Given the description of an element on the screen output the (x, y) to click on. 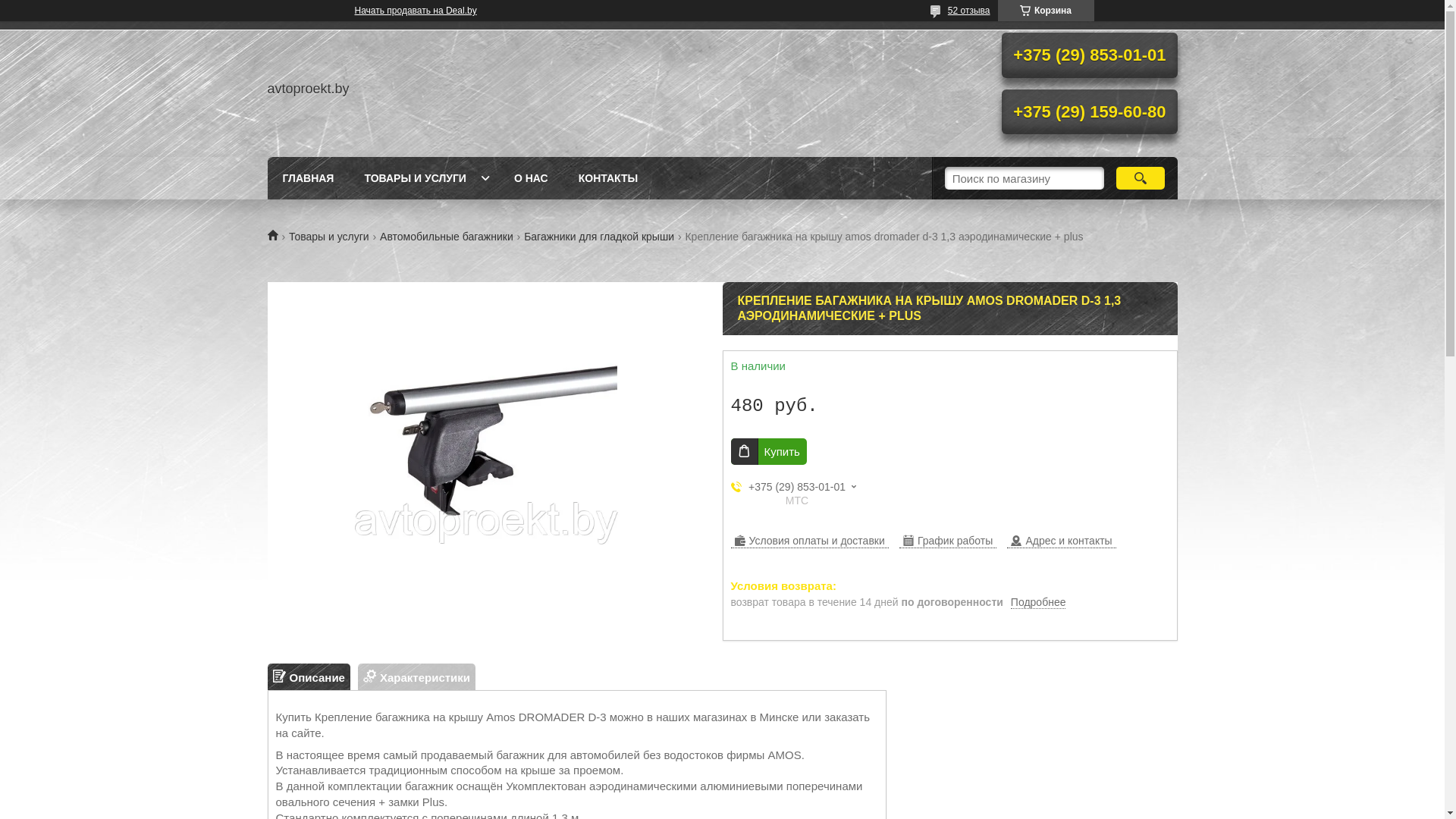
Avtoproekt.by Element type: hover (277, 234)
